Given the description of an element on the screen output the (x, y) to click on. 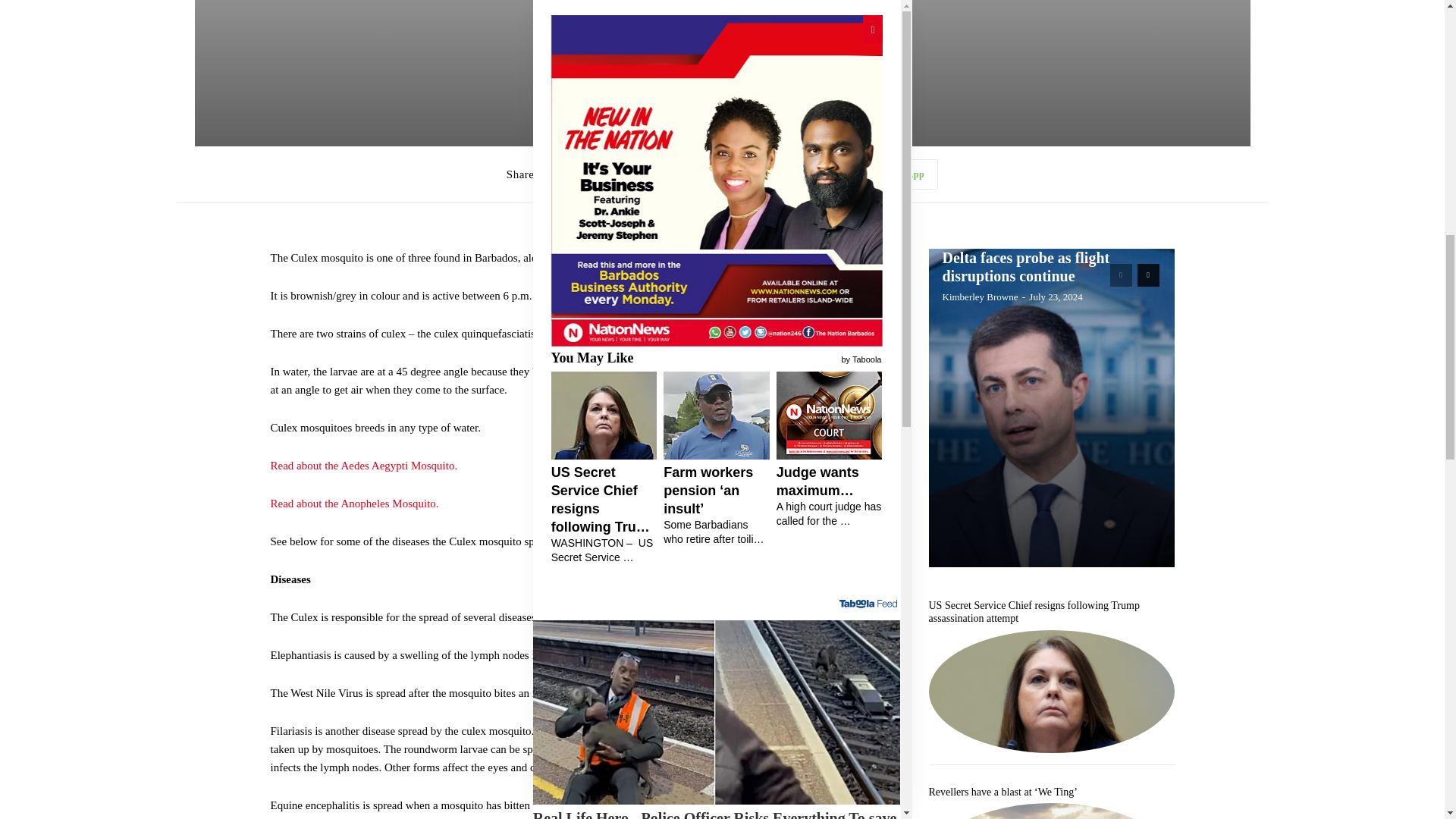
Learn More (561, 528)
Sponsored (879, 60)
Sponsored (879, 526)
Judge wants maximum raised (809, 679)
